Given the description of an element on the screen output the (x, y) to click on. 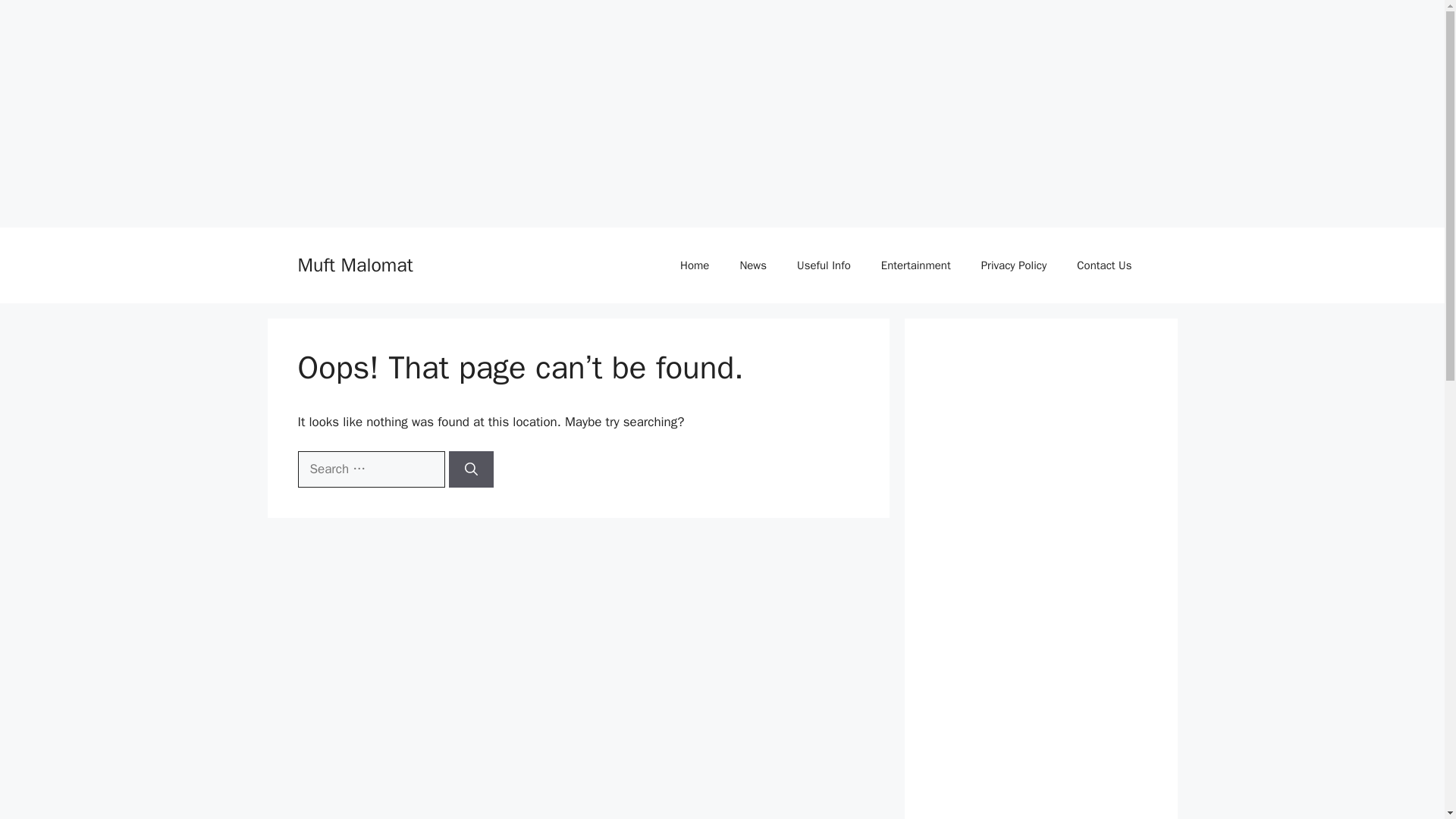
News (752, 265)
Muft Malomat (354, 264)
Home (694, 265)
Entertainment (916, 265)
Search for: (370, 469)
Contact Us (1104, 265)
Useful Info (823, 265)
Privacy Policy (1014, 265)
